Given the description of an element on the screen output the (x, y) to click on. 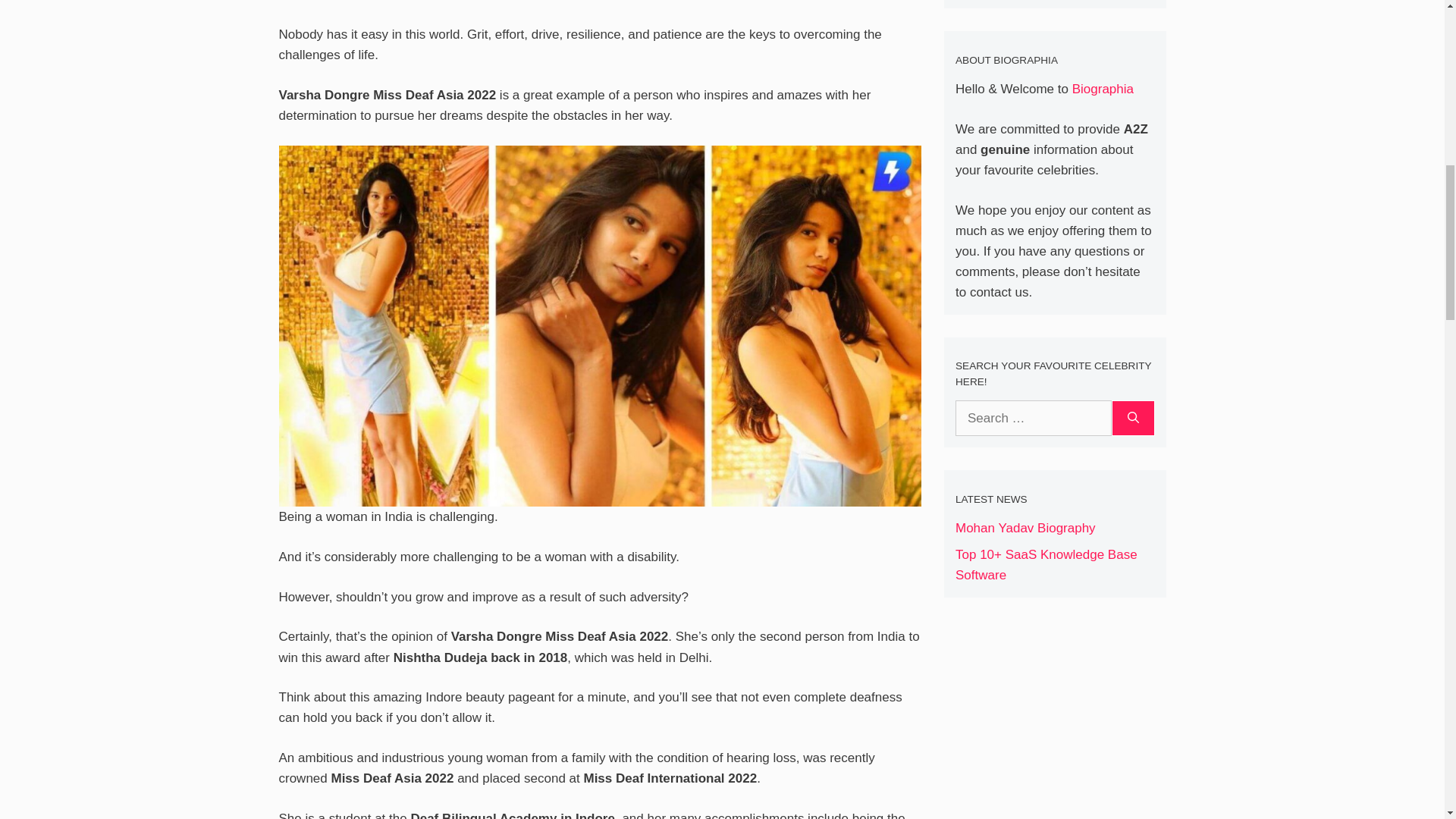
Biographia (1102, 88)
Mohan Yadav Biography (1025, 527)
Search for: (1033, 418)
